Given the description of an element on the screen output the (x, y) to click on. 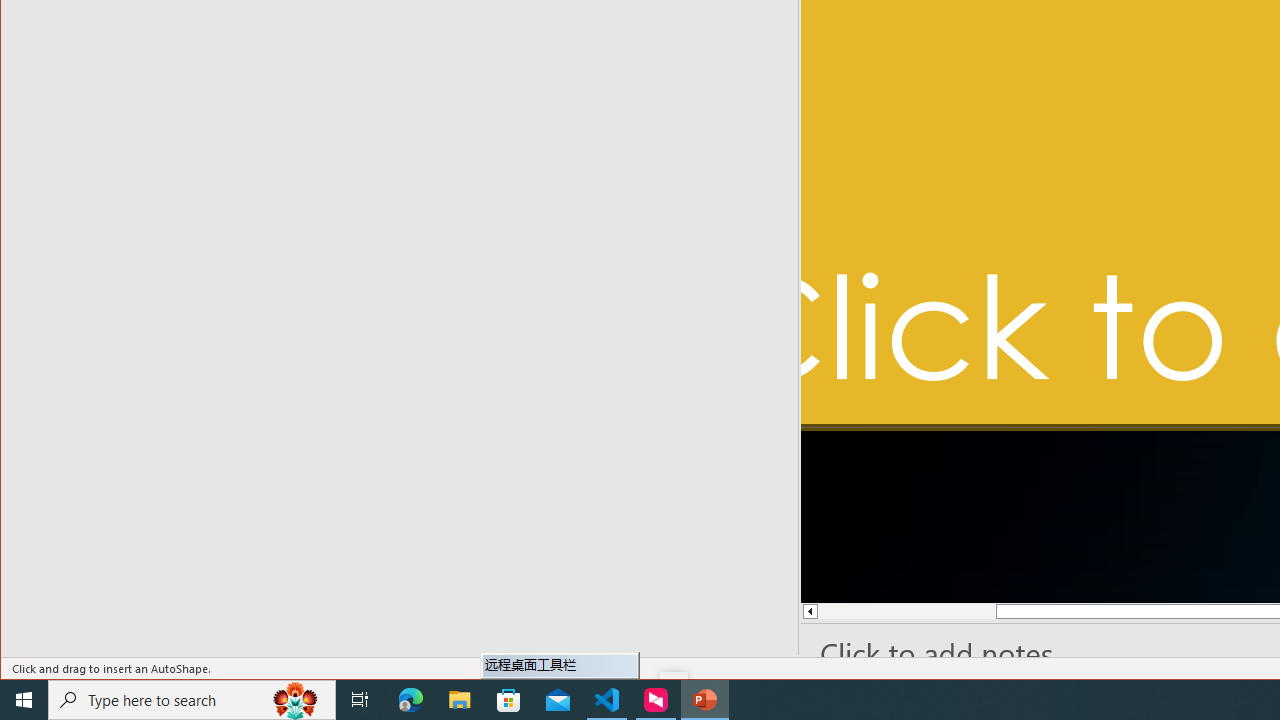
Microsoft Edge (411, 699)
